Given the description of an element on the screen output the (x, y) to click on. 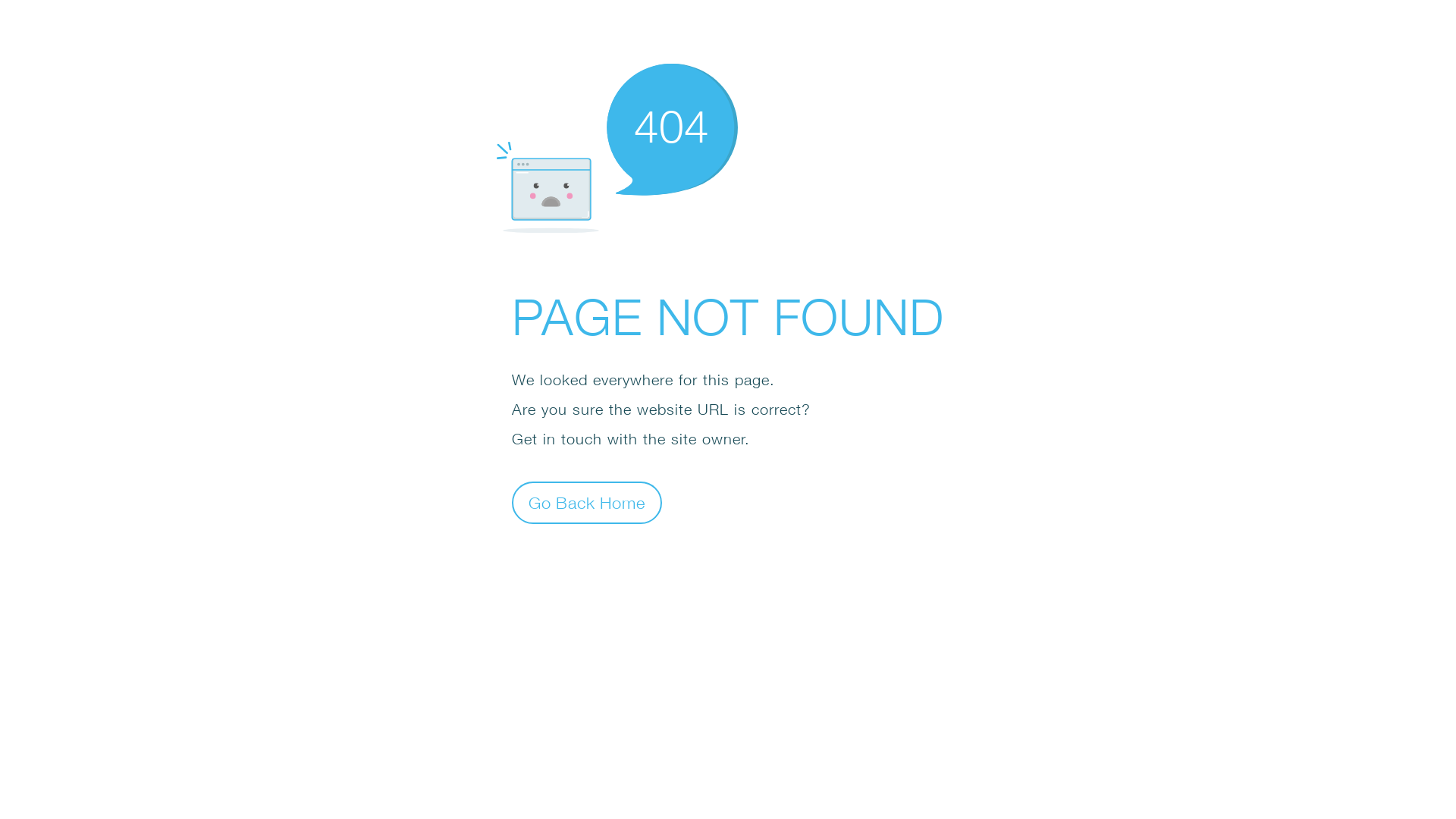
Go Back Home Element type: text (586, 502)
